Given the description of an element on the screen output the (x, y) to click on. 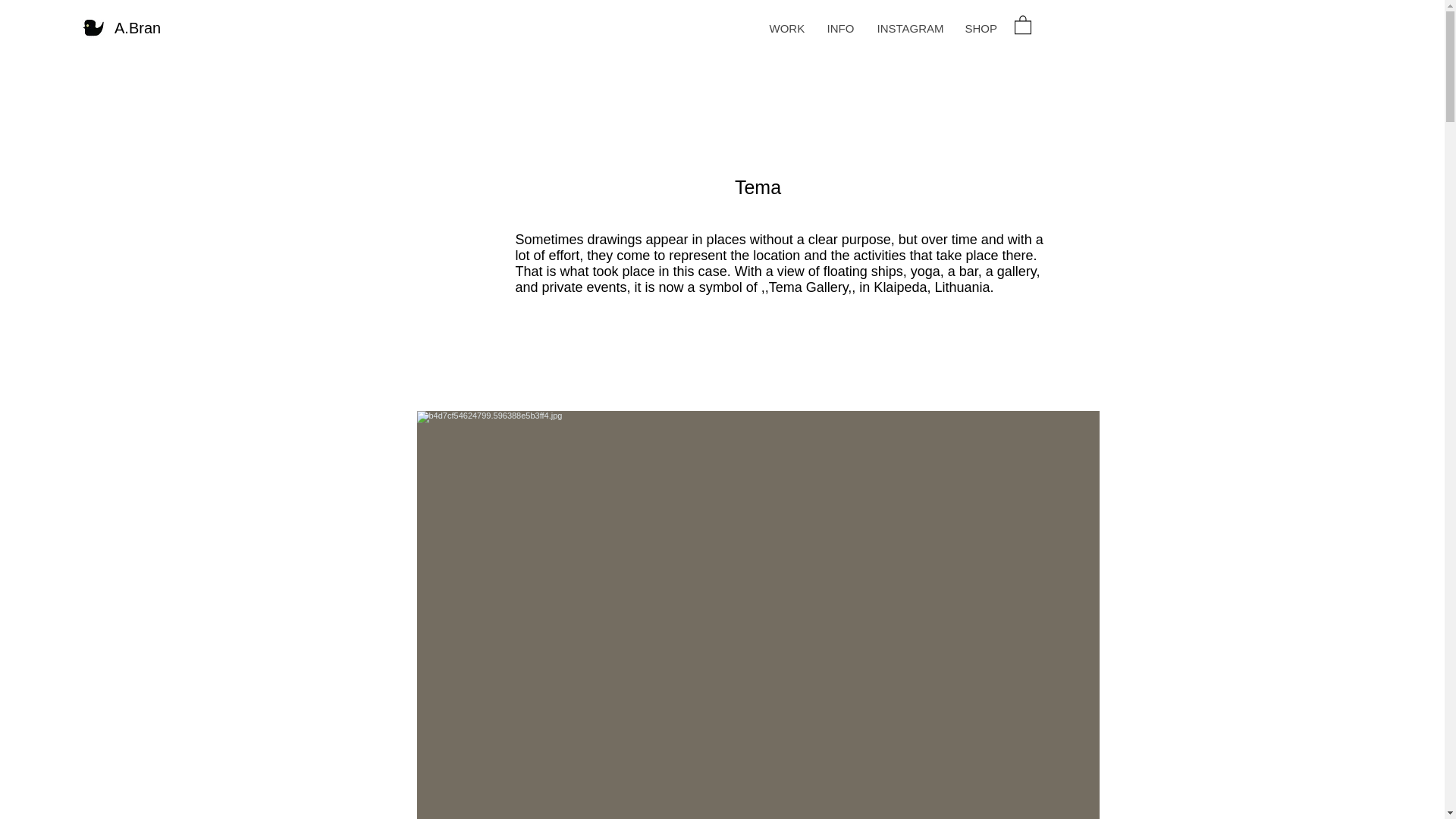
SHOP (980, 28)
INFO (839, 28)
INSTAGRAM (908, 28)
A.Bran (137, 27)
WORK (786, 28)
